Given the description of an element on the screen output the (x, y) to click on. 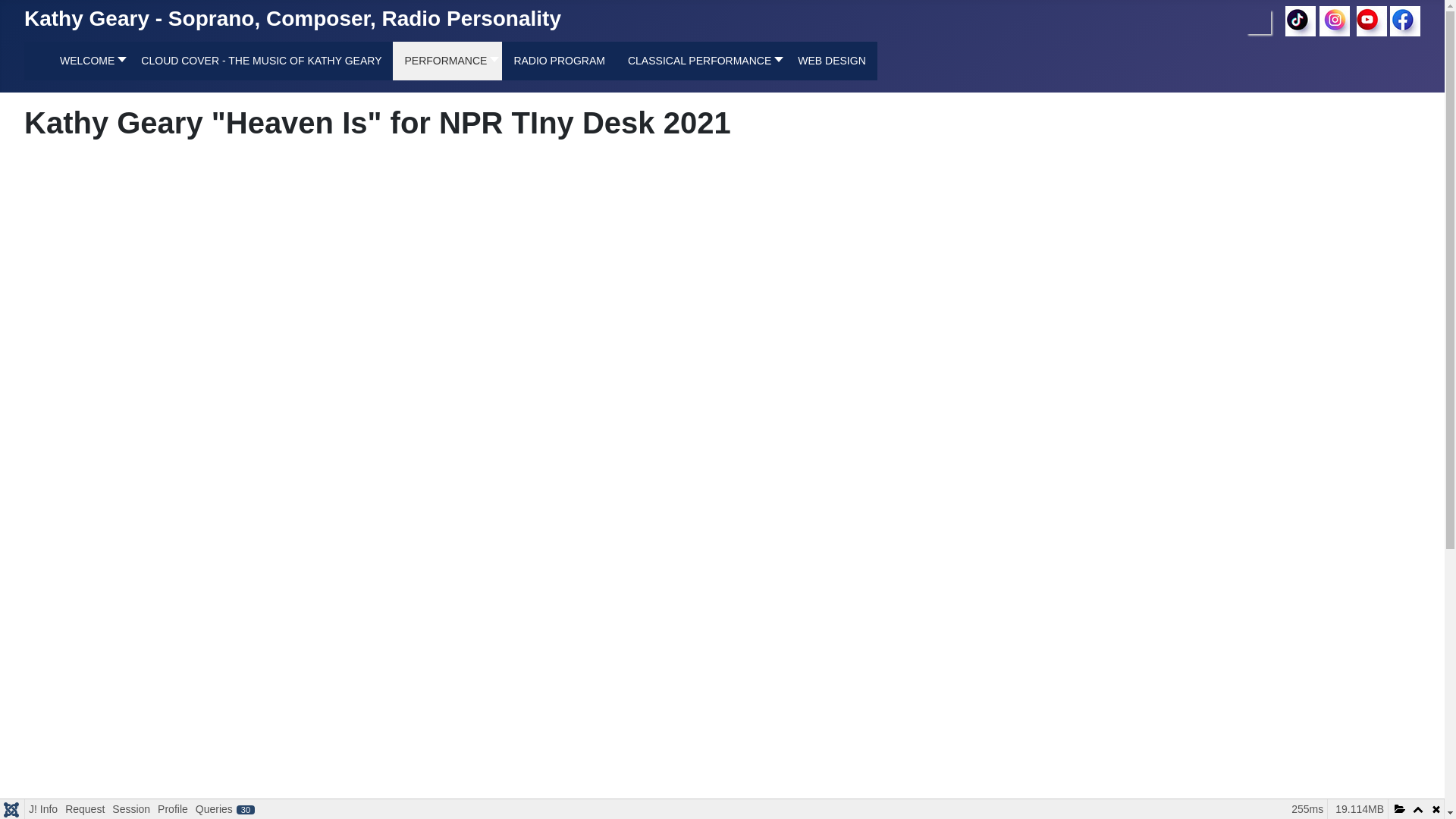
Follow me on Tiktok (1300, 20)
Kathy Geary - Soprano, Composer, Radio Personality (292, 18)
Request (84, 809)
PERFORMANCE (447, 60)
RADIO PROGRAM (558, 60)
J! Info (42, 809)
Profile (173, 809)
WEB DESIGN (831, 60)
Follow me on Instagram (1334, 20)
Session (130, 809)
Find me on Facebook (1405, 20)
WELCOME (88, 60)
CLOUD COVER - THE MUSIC OF KATHY GEARY (261, 60)
CLASSICAL PERFORMANCE (700, 60)
